Given the description of an element on the screen output the (x, y) to click on. 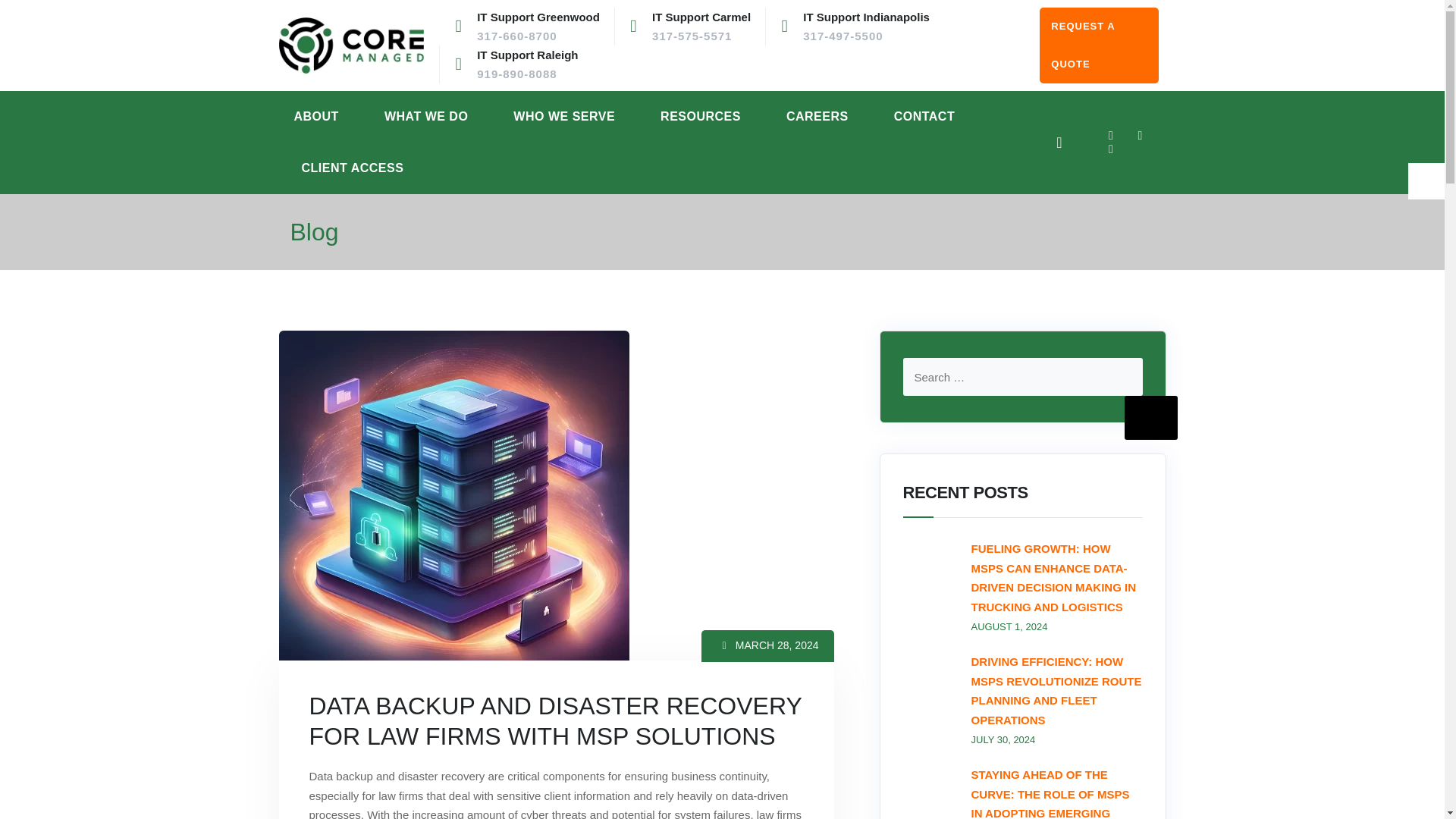
Core Managed IT Services (866, 26)
ABOUT (352, 45)
WHAT WE DO (316, 116)
WHO WE SERVE (701, 26)
REQUEST A QUOTE (426, 116)
